Given the description of an element on the screen output the (x, y) to click on. 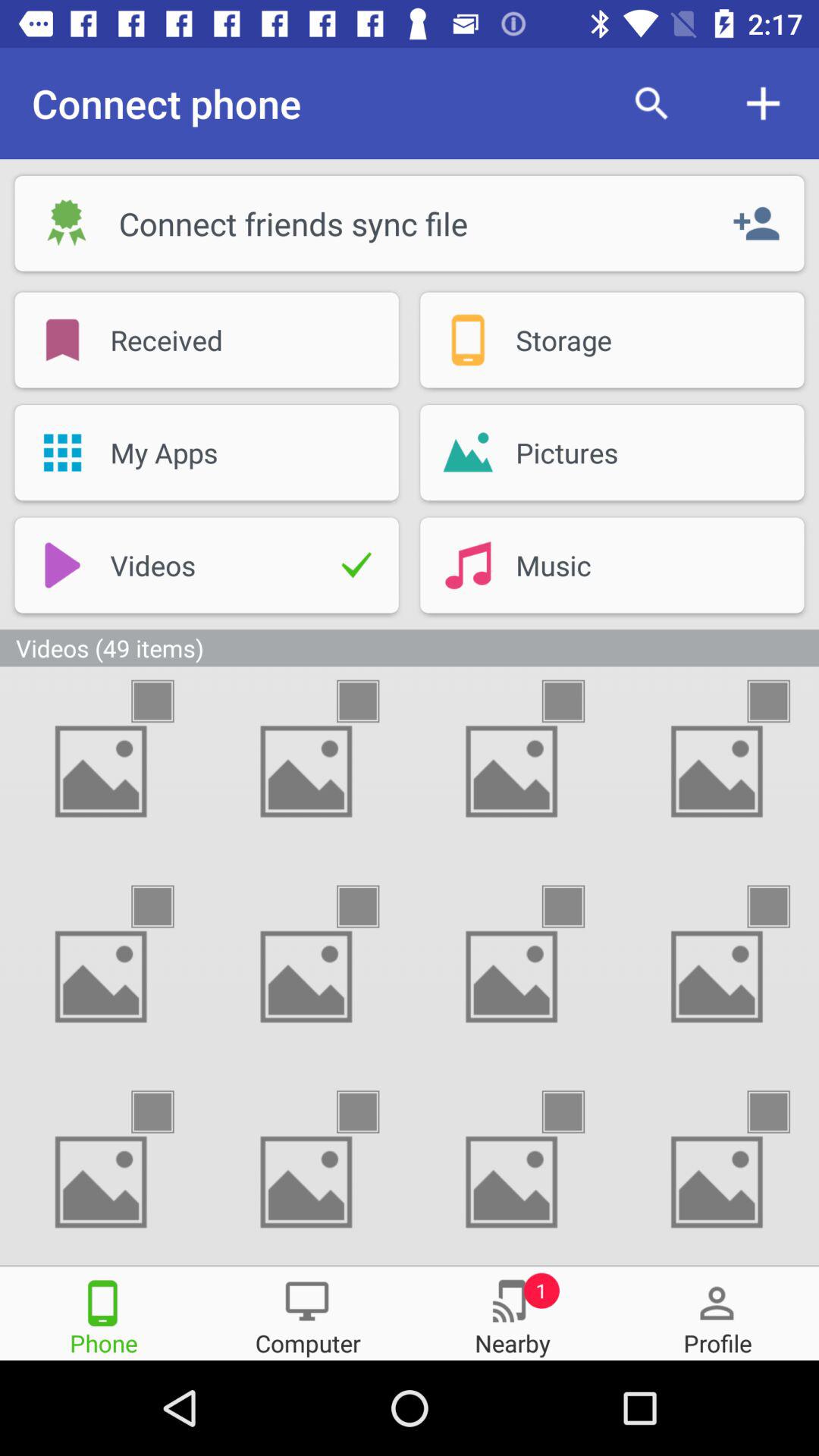
select picture (371, 700)
